Given the description of an element on the screen output the (x, y) to click on. 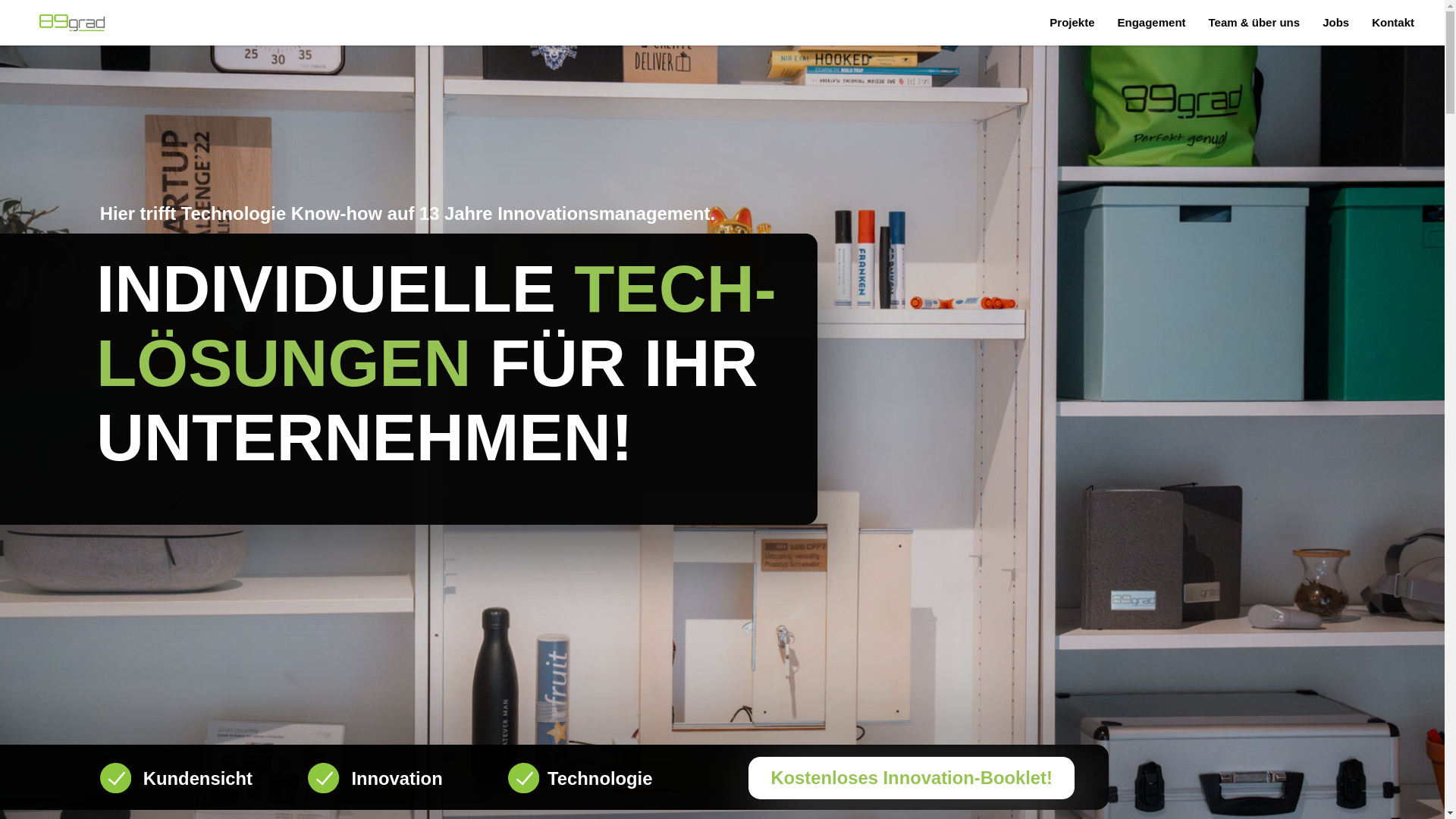
Kontakt Element type: text (1392, 21)
Jobs Element type: text (1335, 21)
Kostenloses Innovation-Booklet! Element type: text (574, 489)
Projekte Element type: text (1071, 21)
Engagement Element type: text (1151, 21)
